Given the description of an element on the screen output the (x, y) to click on. 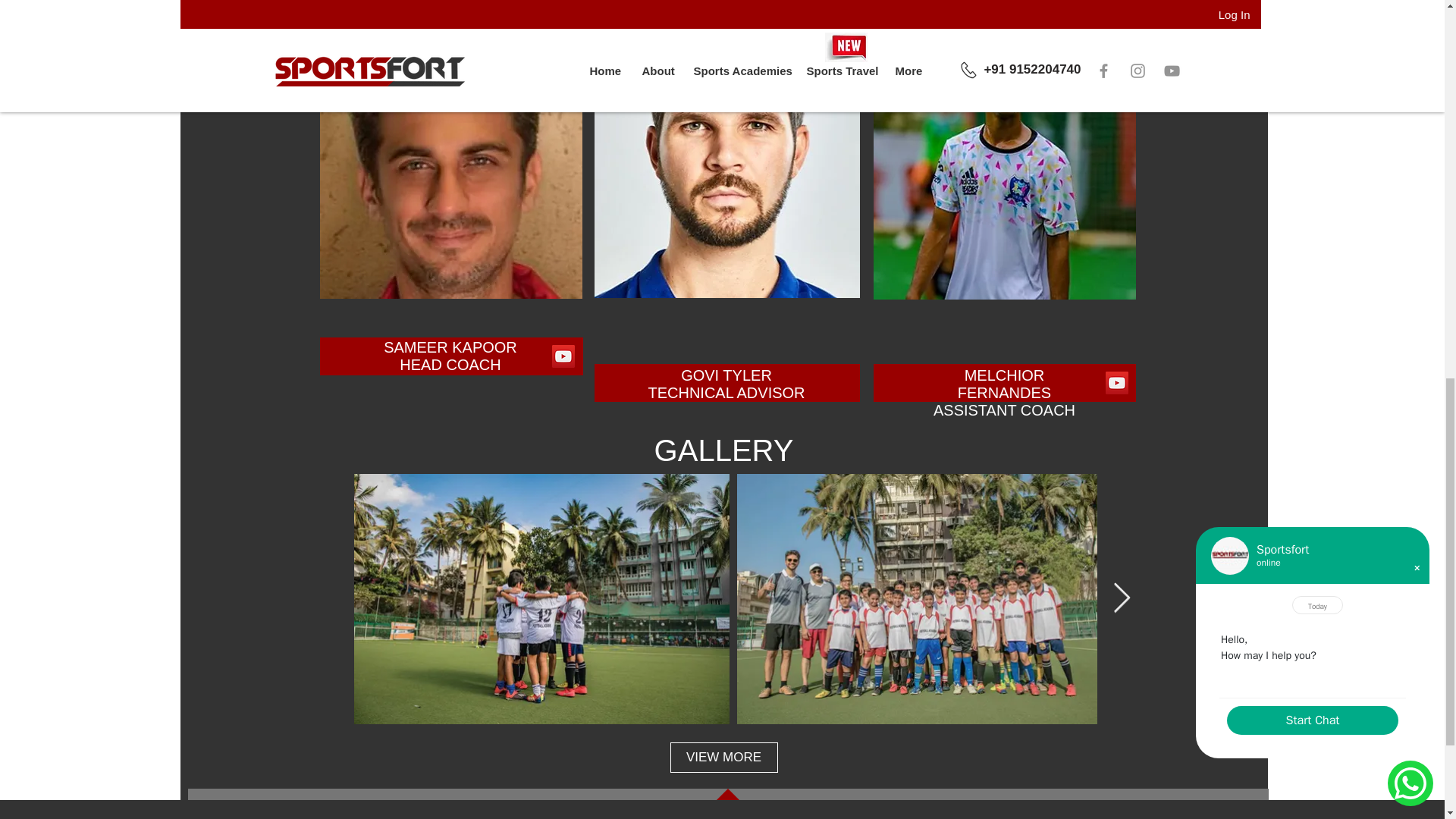
VIEW MORE (723, 757)
